Given the description of an element on the screen output the (x, y) to click on. 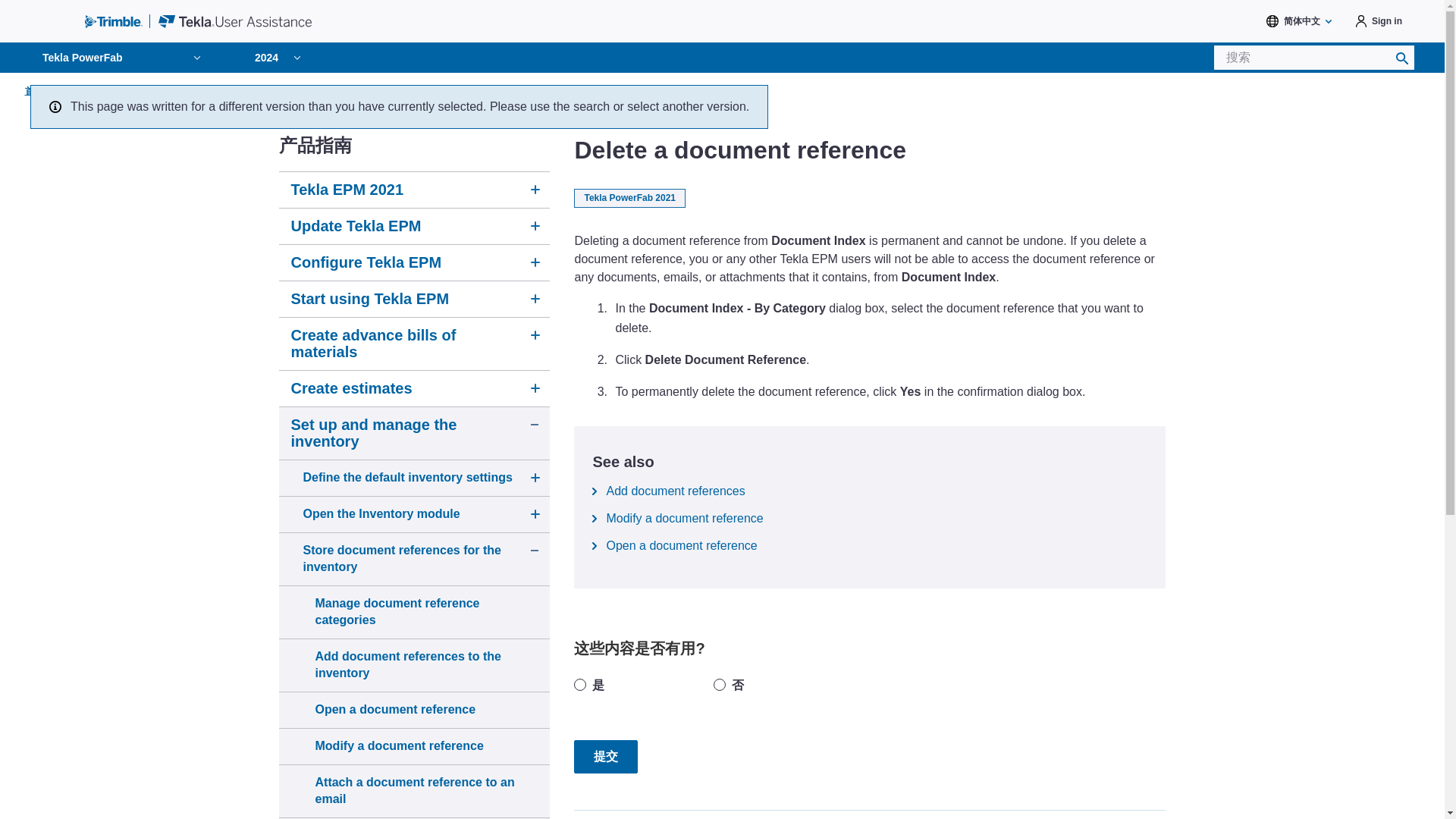
Tekla PowerFab (124, 57)
Sign in (1378, 21)
